Given the description of an element on the screen output the (x, y) to click on. 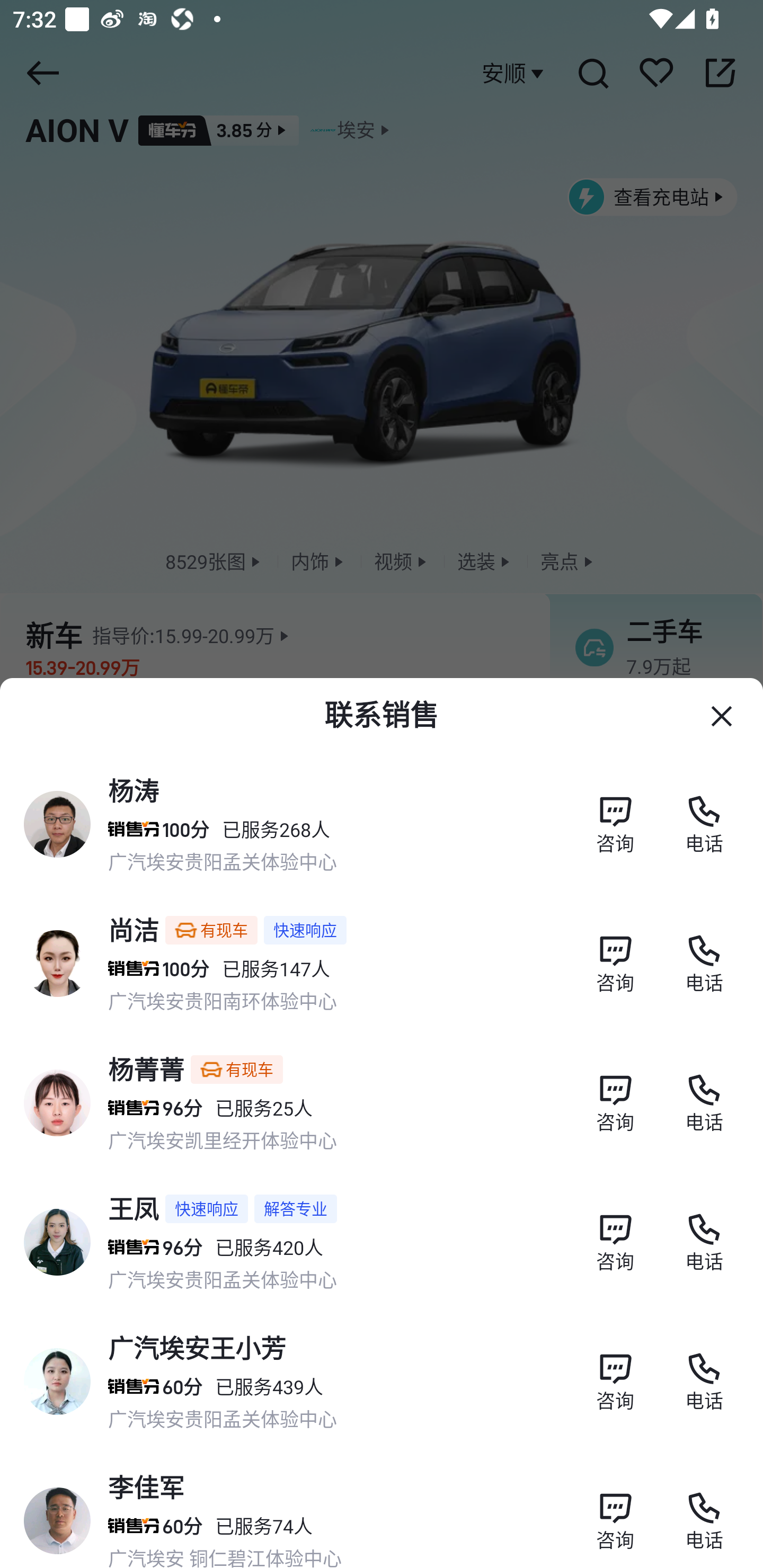
 (721, 716)
杨涛 (133, 790)
 咨询 (614, 814)
 电话 (704, 814)
已服务268人 (276, 829)
尚洁 (133, 929)
 咨询 (614, 953)
 电话 (704, 953)
已服务147人 (276, 967)
杨菁菁 (146, 1069)
 咨询 (614, 1093)
 电话 (704, 1093)
已服务25人 (263, 1107)
王凤 (133, 1208)
 咨询 (614, 1232)
 电话 (704, 1232)
已服务420人 (269, 1247)
广汽埃安王小芳 (197, 1348)
 咨询 (614, 1371)
 电话 (704, 1371)
已服务439人 (269, 1386)
李佳军 (146, 1486)
 咨询 (614, 1511)
 电话 (704, 1511)
已服务74人 (263, 1525)
